Given the description of an element on the screen output the (x, y) to click on. 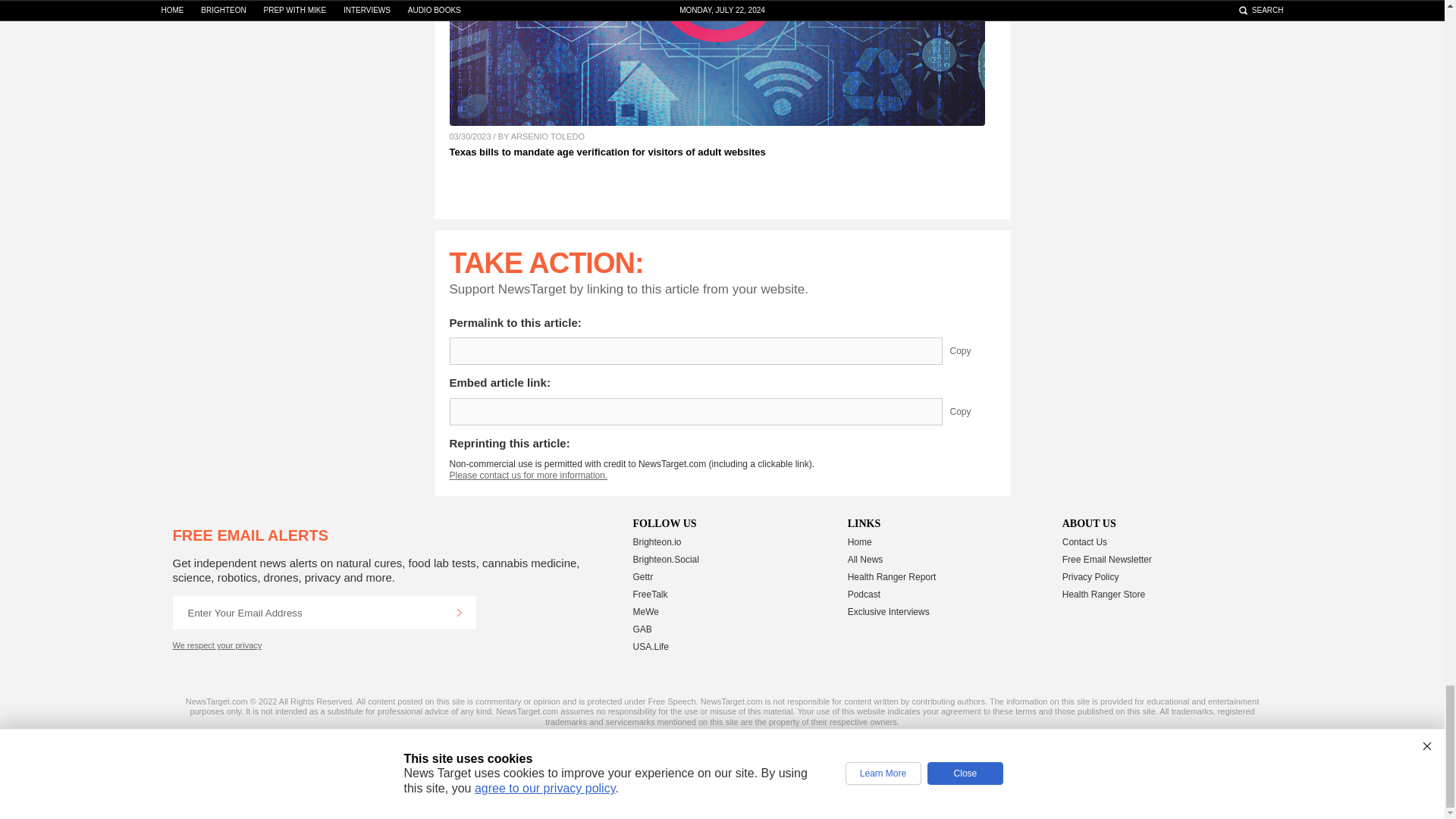
Copy Permalink (971, 350)
Copy Embed Link (971, 411)
Continue (459, 612)
